Given the description of an element on the screen output the (x, y) to click on. 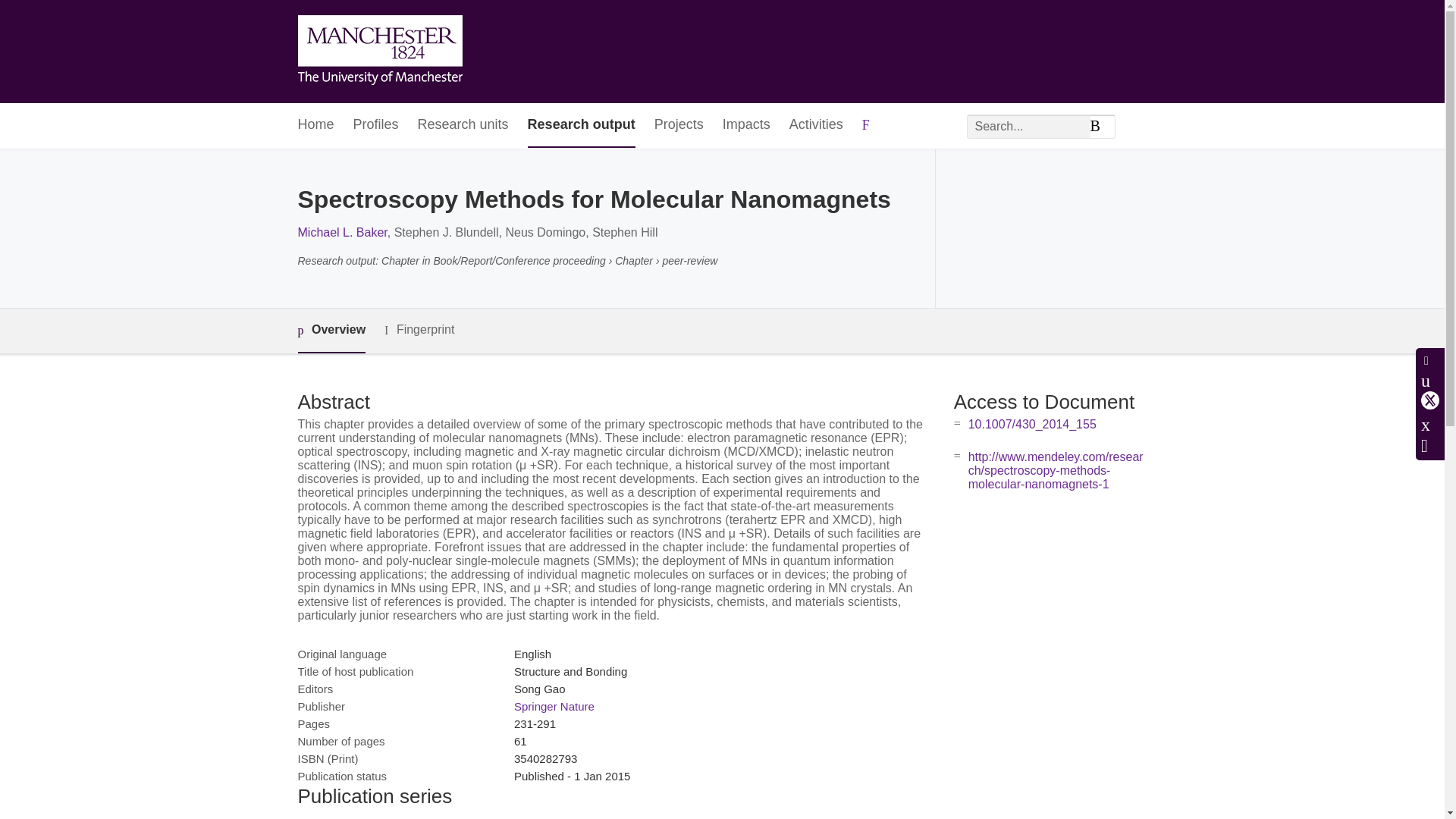
Overview (331, 330)
Research units (462, 125)
Michael L. Baker (342, 232)
Research Explorer The University of Manchester Home (379, 51)
Research output (580, 125)
Springer Nature (553, 706)
Profiles (375, 125)
Impacts (746, 125)
Projects (678, 125)
